Given the description of an element on the screen output the (x, y) to click on. 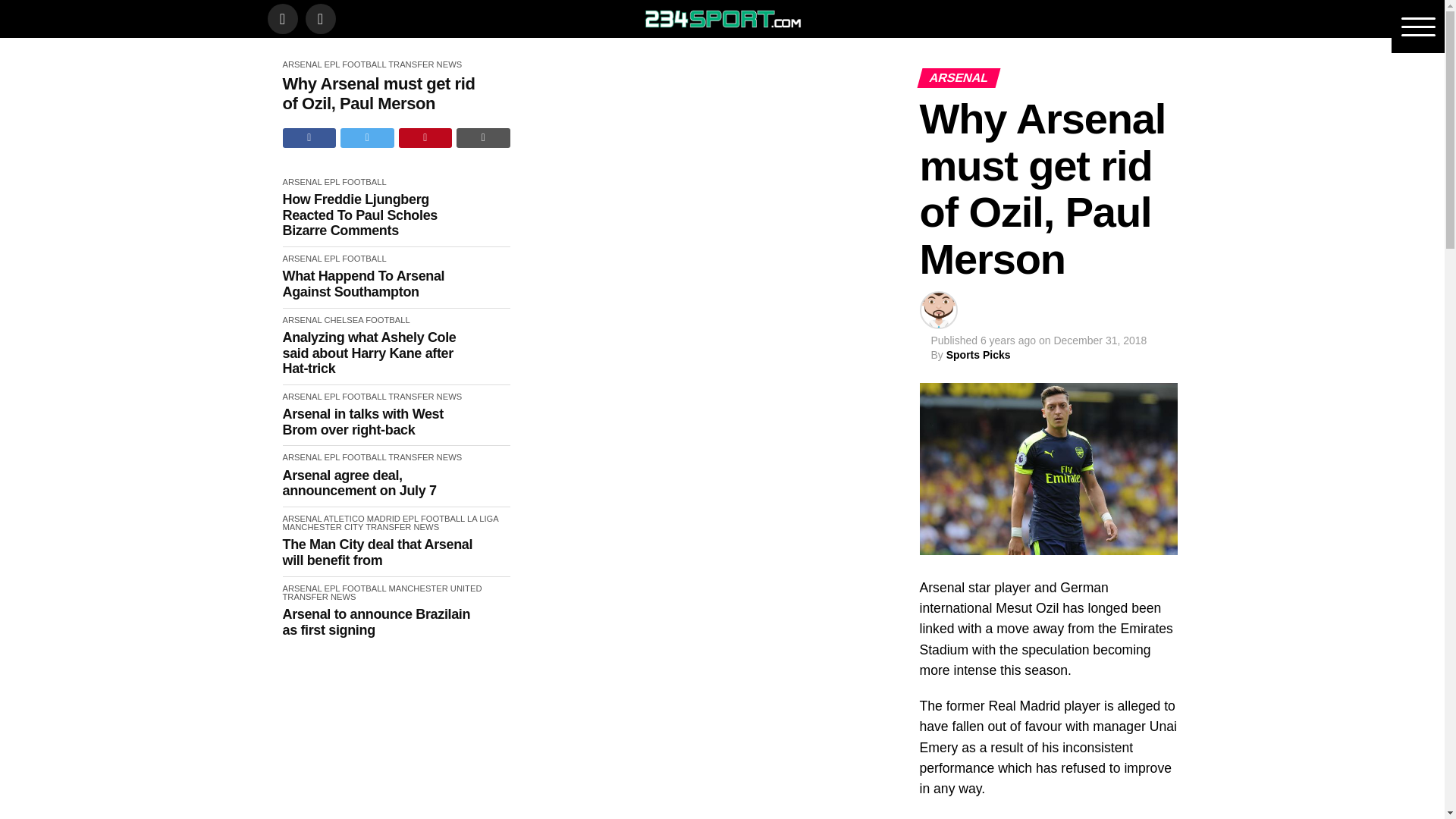
Share on Facebook (309, 137)
Pin This Post (425, 137)
Tweet This Post (367, 137)
